Given the description of an element on the screen output the (x, y) to click on. 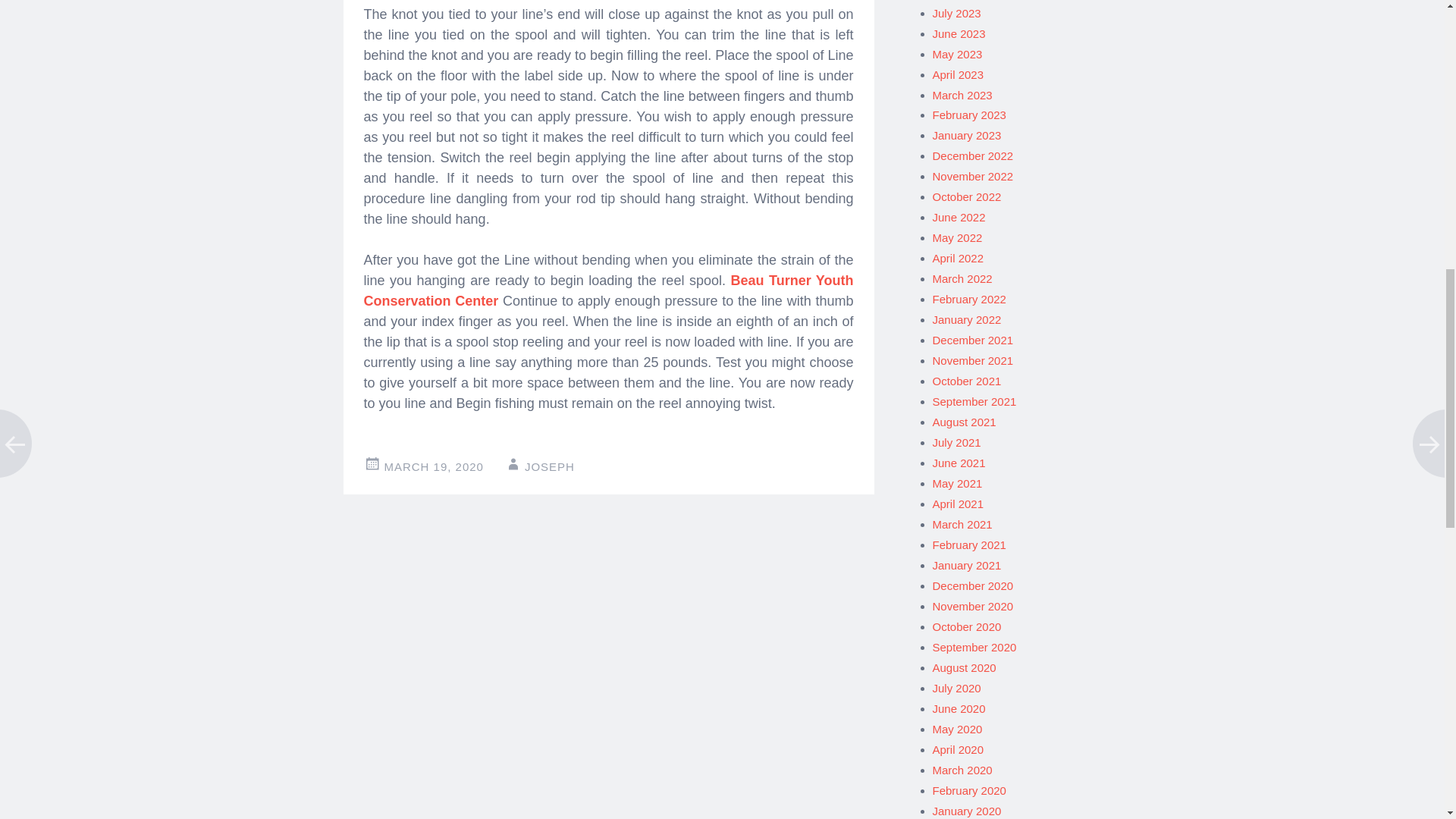
11:48 am (433, 466)
MARCH 19, 2020 (433, 466)
June 2023 (959, 33)
Beau Turner Youth Conservation Center (608, 290)
May 2023 (957, 53)
JOSEPH (549, 466)
July 2023 (957, 12)
View all posts by Joseph (549, 466)
